Given the description of an element on the screen output the (x, y) to click on. 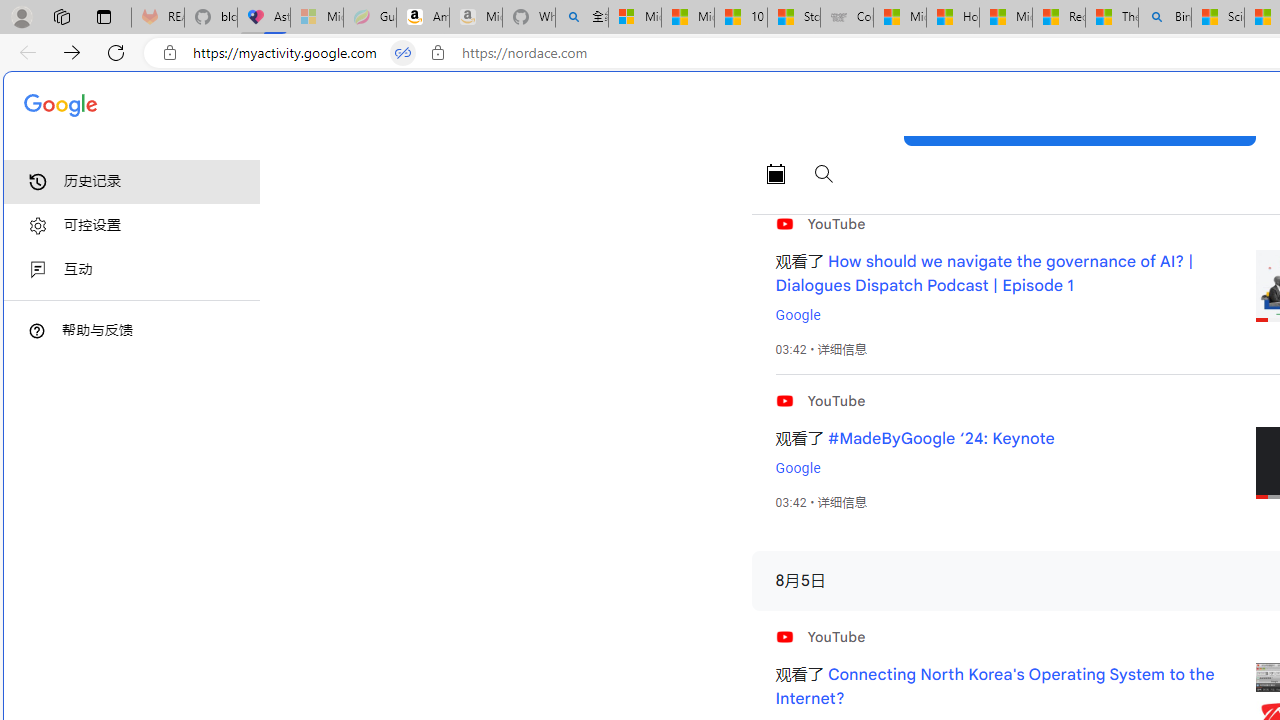
Tabs in split screen (403, 53)
Asthma Inhalers: Names and Types (264, 17)
Class: DTiKkd NMm5M (37, 330)
Connecting North Korea's Operating System to the Internet? (994, 687)
Science - MSN (1217, 17)
